Given the description of an element on the screen output the (x, y) to click on. 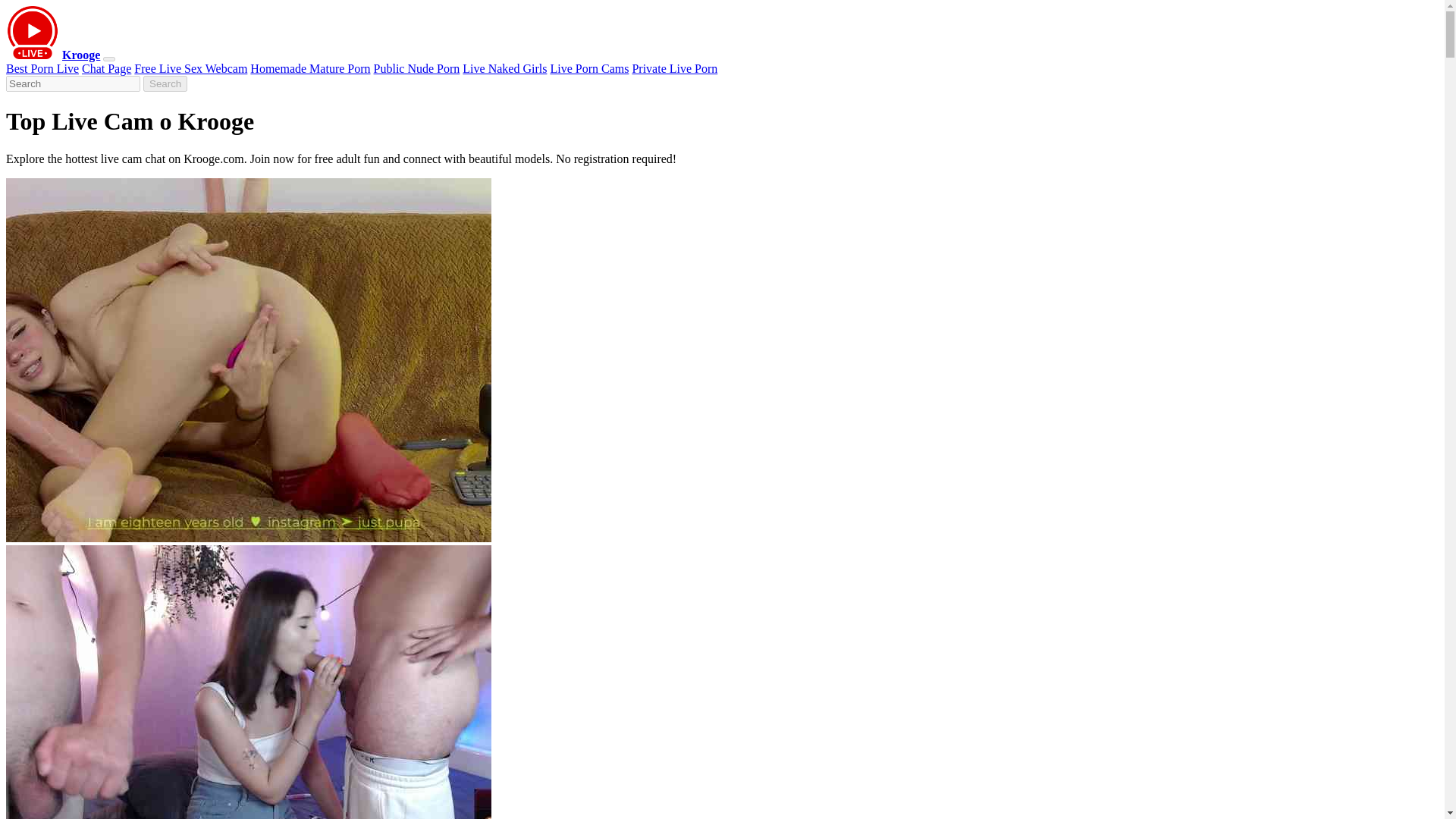
Live Porn Cams (589, 68)
Search (164, 83)
Homemade Mature Porn (309, 68)
Public Nude Porn (417, 68)
Best Porn Live (41, 68)
Private Live Porn (674, 68)
Krooge (81, 54)
Live Naked Girls (505, 68)
Chat Page (106, 68)
Free Live Sex Webcam (190, 68)
